Given the description of an element on the screen output the (x, y) to click on. 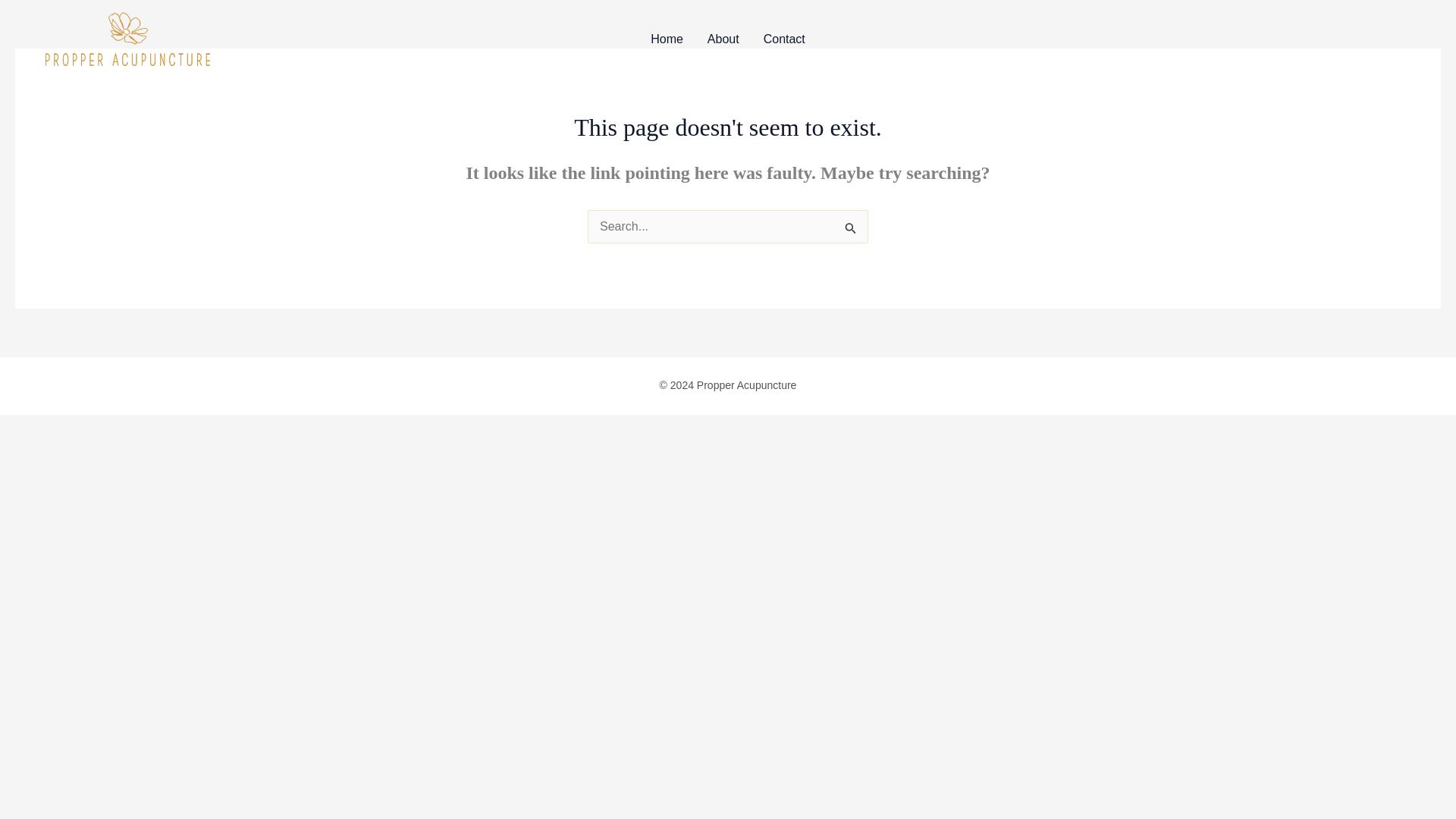
About (723, 39)
Home (667, 39)
Contact (783, 39)
